Given the description of an element on the screen output the (x, y) to click on. 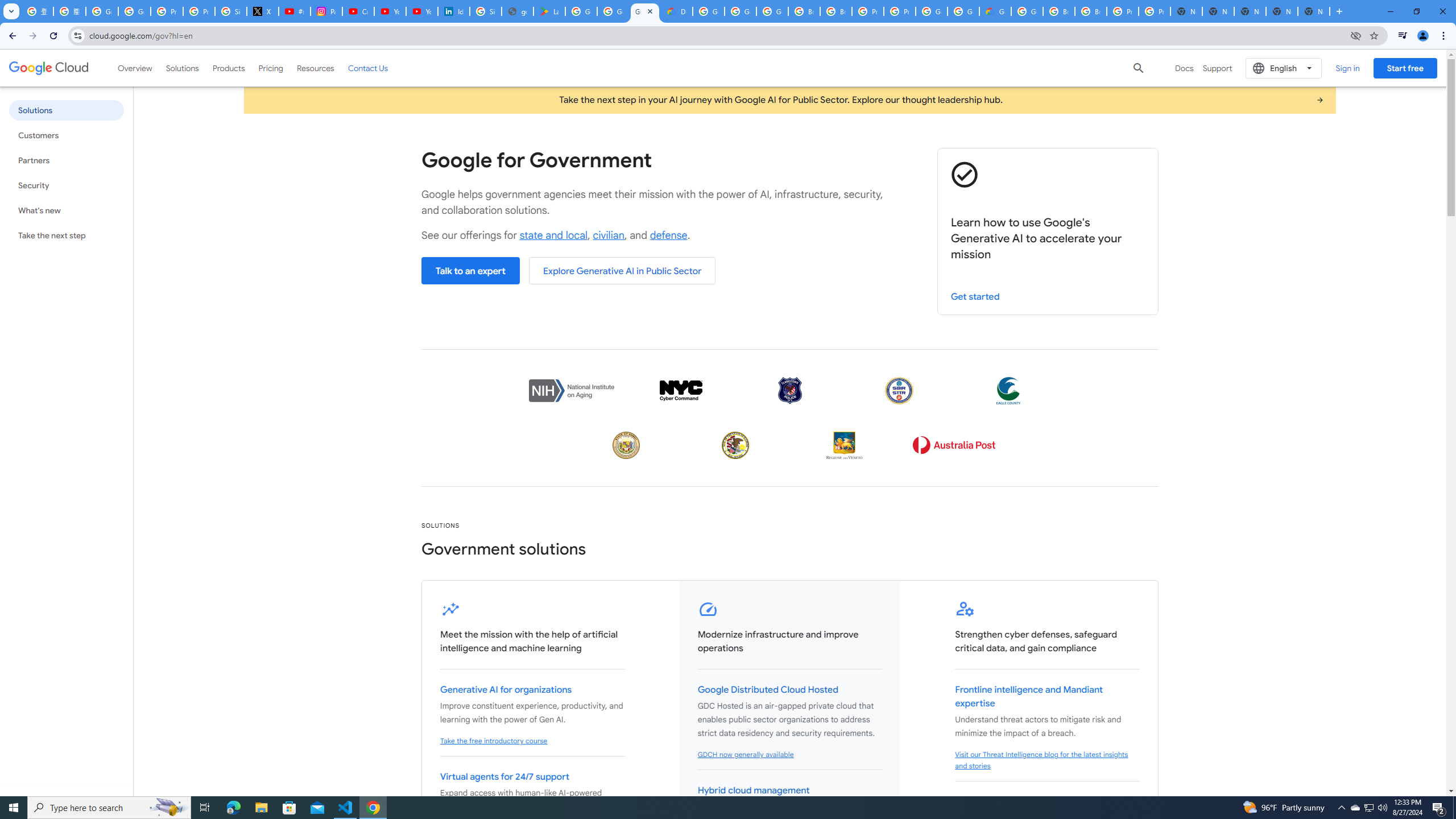
YouTube Culture & Trends - YouTube Top 10, 2021 (421, 11)
U.S. Navy (898, 390)
defense (668, 235)
#nbabasketballhighlights - YouTube (294, 11)
Google Cloud (48, 67)
Explore Generative AI in Public Sector (622, 270)
Australia Post (953, 445)
Talk to an expert (469, 270)
